Given the description of an element on the screen output the (x, y) to click on. 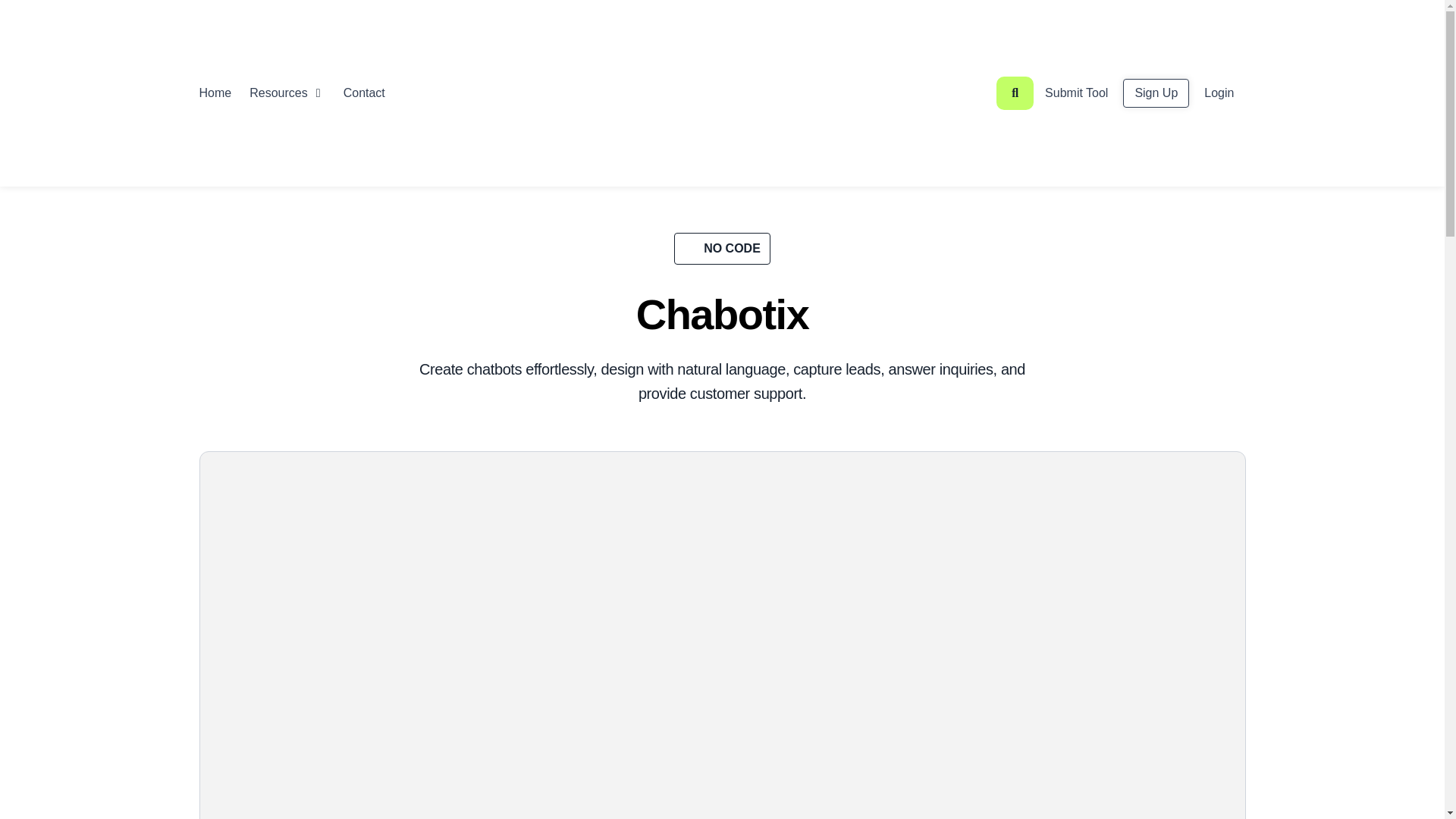
Resources (277, 93)
Contact (373, 93)
Login (1218, 92)
Sign Up (1155, 92)
Home (214, 93)
Search (1014, 92)
Submit Tool (1075, 92)
